Given the description of an element on the screen output the (x, y) to click on. 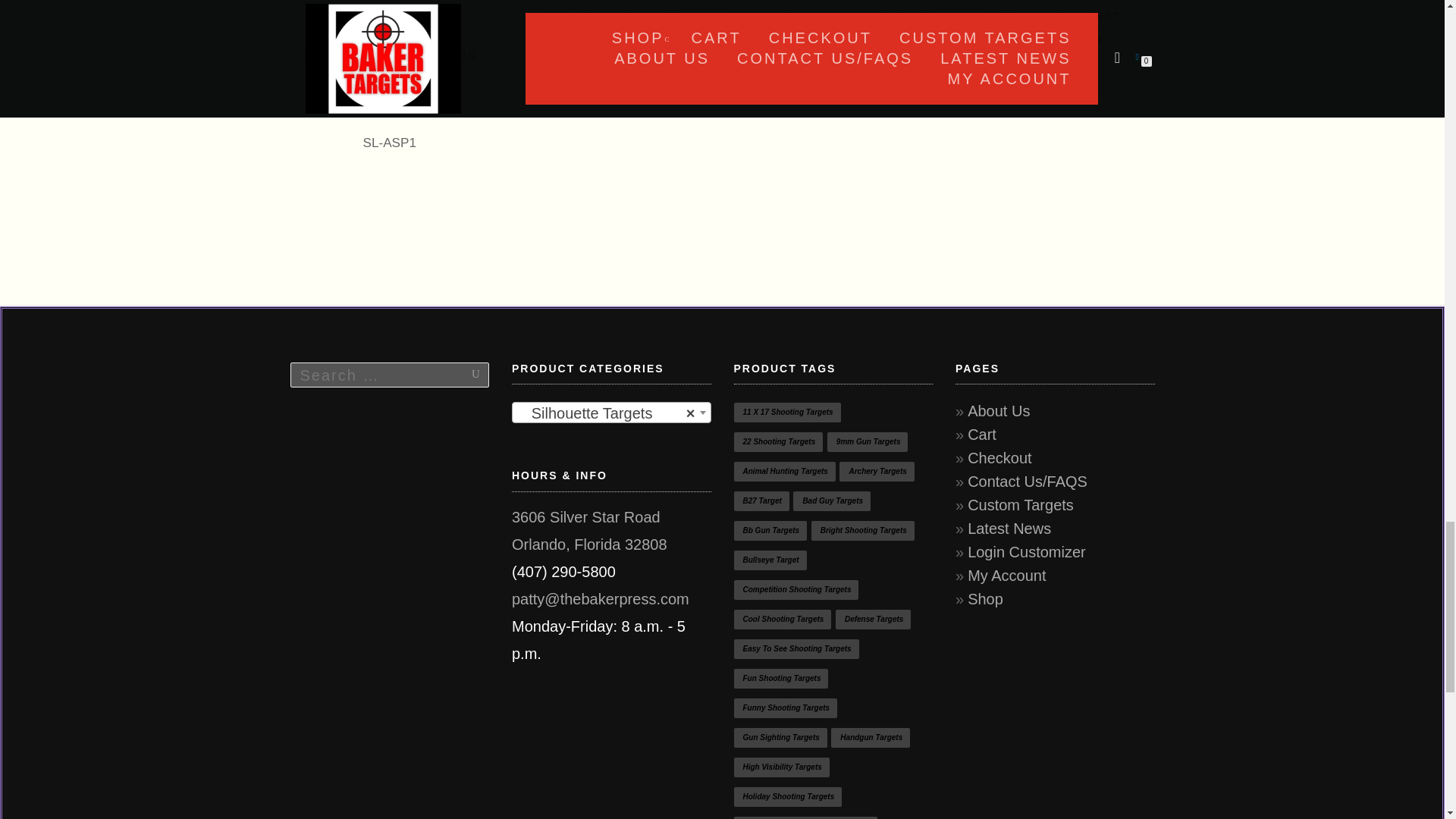
Search (459, 373)
Search (459, 373)
